Given the description of an element on the screen output the (x, y) to click on. 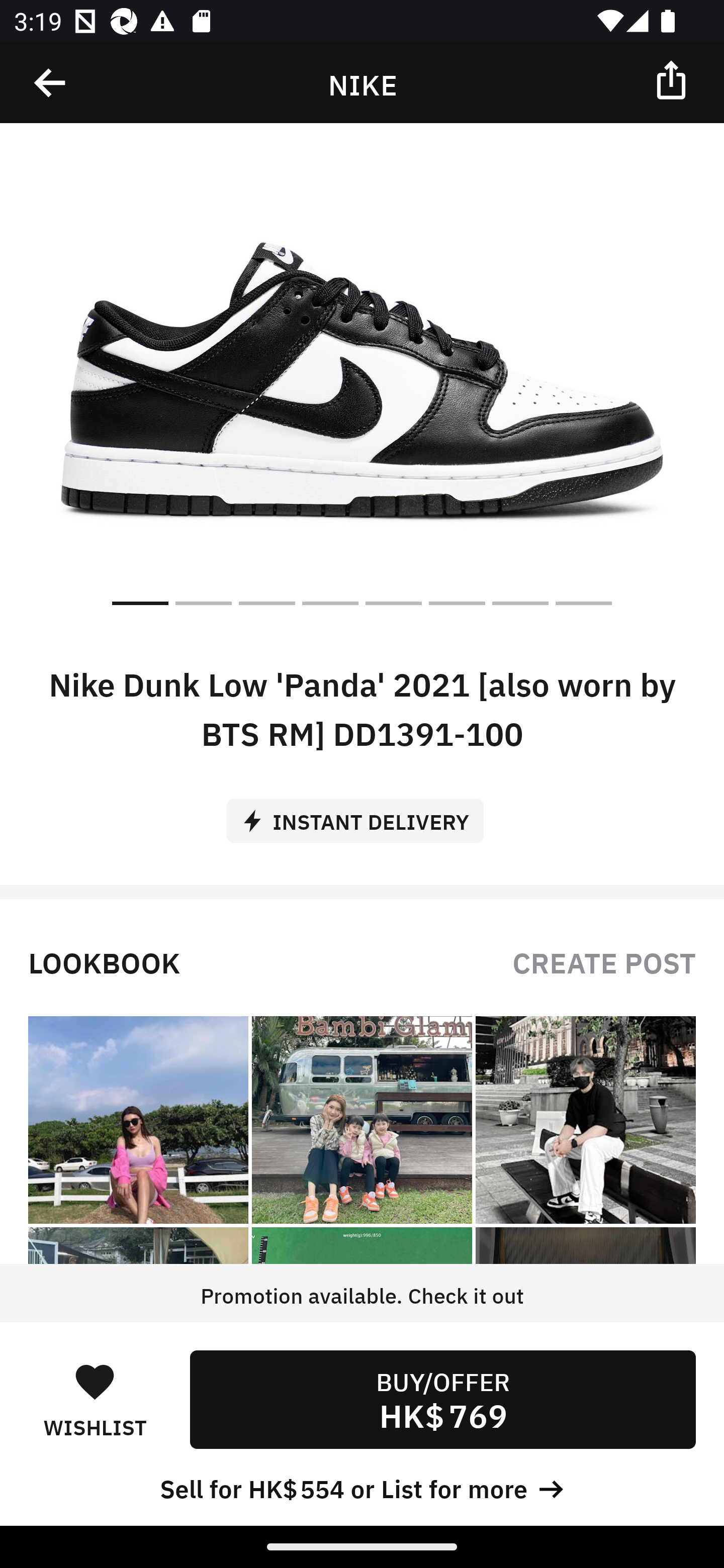
 (50, 83)
 (672, 79)
 INSTANT DELIVERY (362, 813)
CREATE POST (603, 960)
BUY/OFFER HK$ 769 (442, 1399)
󰋑 (94, 1380)
Sell for HK$ 554 or List for more (361, 1486)
